Given the description of an element on the screen output the (x, y) to click on. 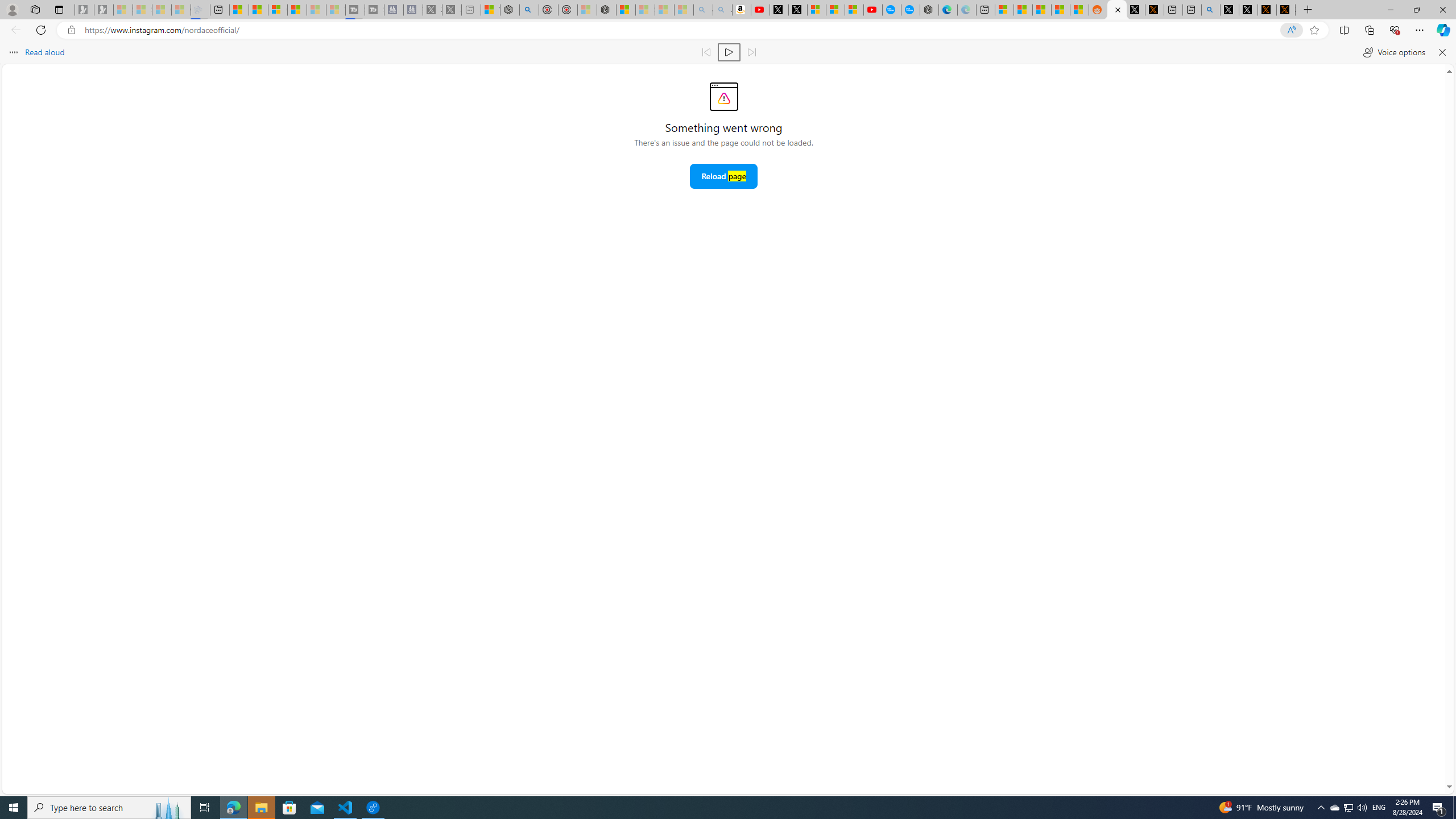
Nordace - Summer Adventures 2024 (509, 9)
Shanghai, China hourly forecast | Microsoft Weather (1041, 9)
Read next paragraph (750, 52)
Log in to X / X (1135, 9)
help.x.com | 524: A timeout occurred (1154, 9)
Microsoft Start - Sleeping (315, 9)
Nordace - Nordace Siena Is Not An Ordinary Backpack (606, 9)
